Given the description of an element on the screen output the (x, y) to click on. 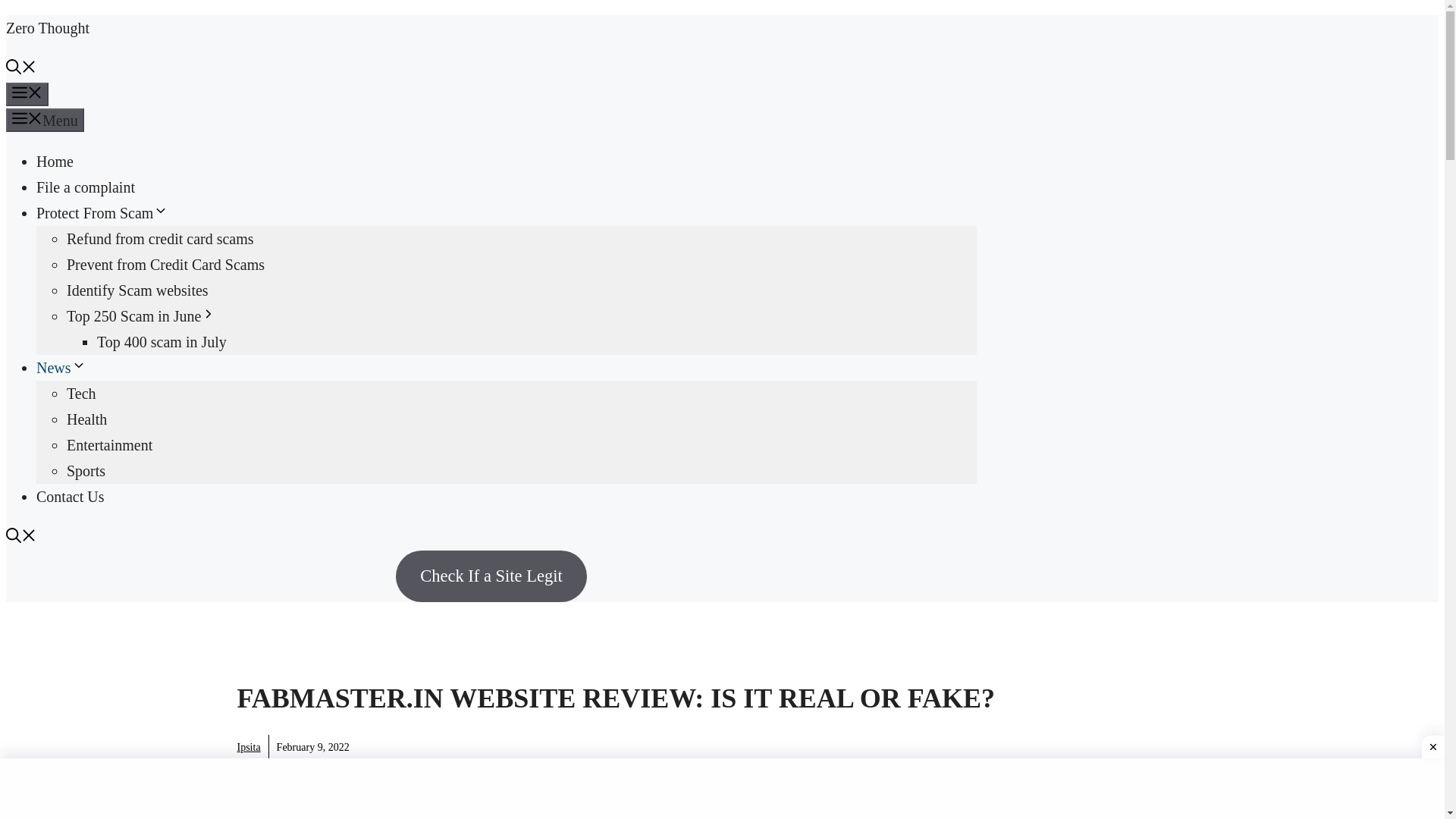
File a complaint (85, 187)
Identify Scam websites (137, 289)
Contact Us (69, 496)
Sports (85, 470)
Health (86, 419)
Ipsita (247, 747)
Menu (44, 119)
Menu (26, 94)
REAL OR FAKE (321, 782)
